Given the description of an element on the screen output the (x, y) to click on. 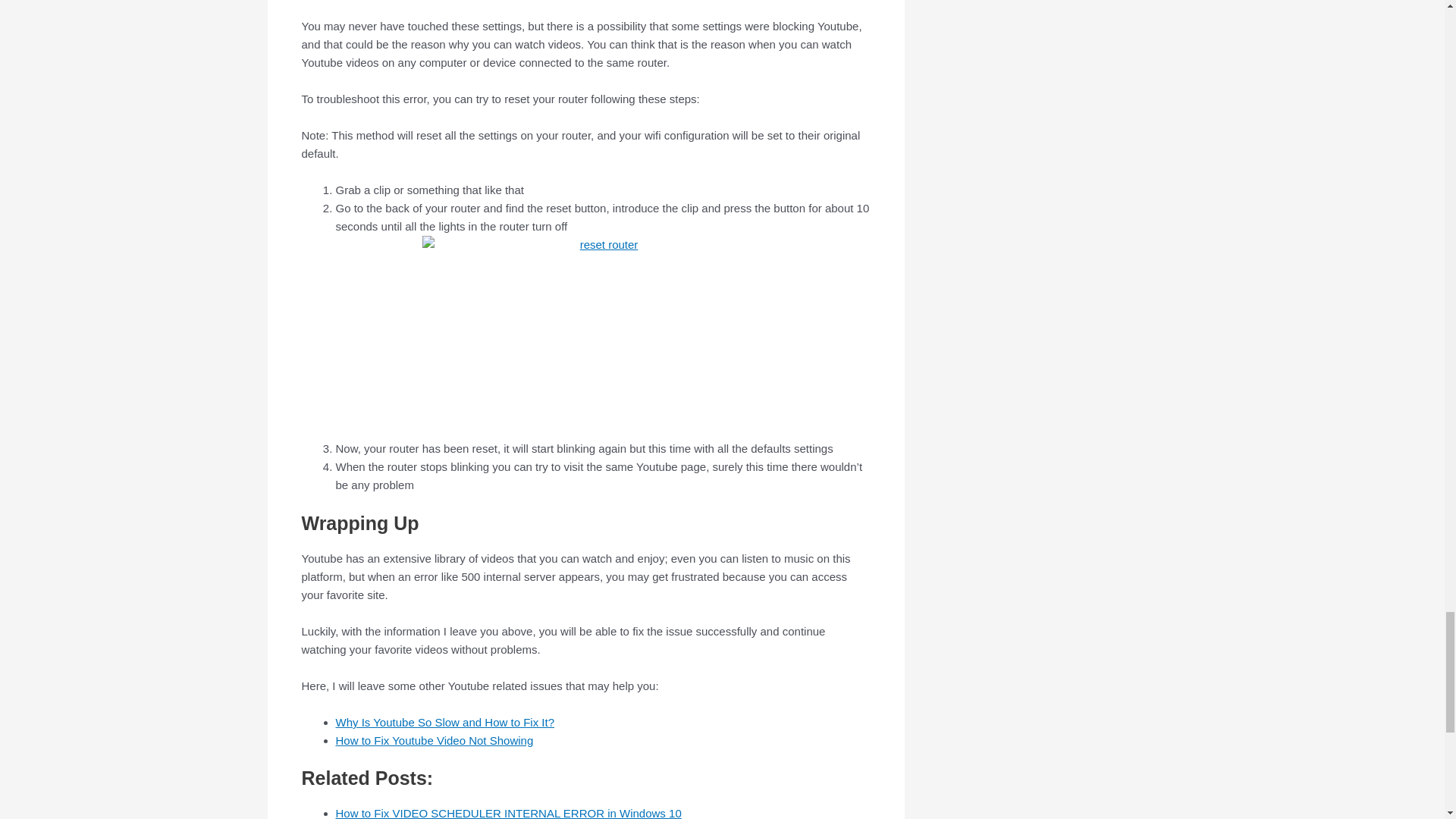
How to Fix VIDEO SCHEDULER INTERNAL ERROR in Windows 10 (507, 812)
Why Is Youtube So Slow and How to Fix It? (444, 721)
How to Fix Youtube Video Not Showing (433, 739)
